Given the description of an element on the screen output the (x, y) to click on. 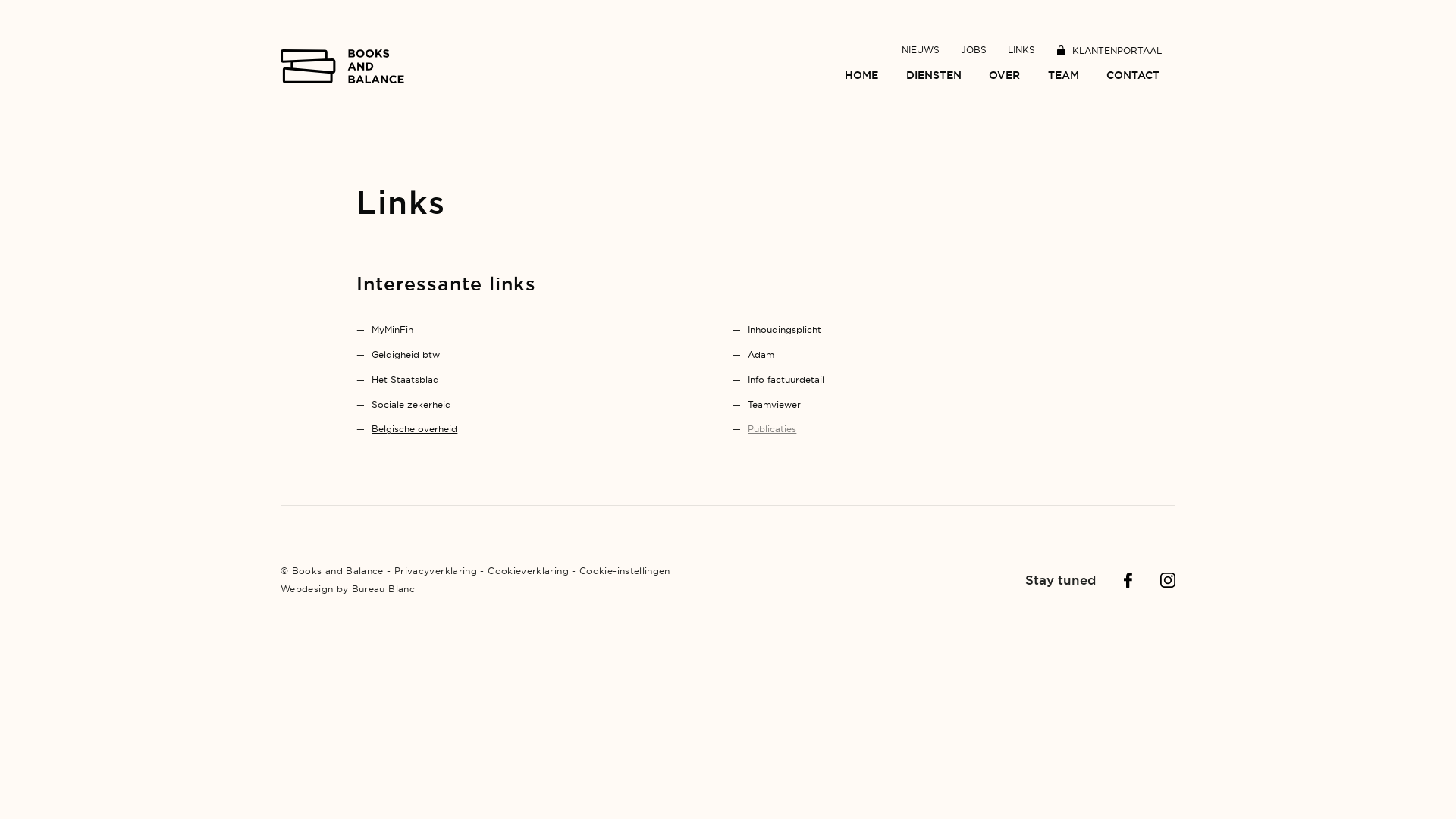
NIEUWS Element type: text (920, 49)
Sociale zekerheid Element type: text (411, 404)
TEAM Element type: text (1063, 75)
Privacyverklaring Element type: text (435, 570)
MyMinFin Element type: text (392, 329)
Belgische overheid Element type: text (414, 428)
Cookie-instellingen Element type: text (624, 570)
Het Staatsblad Element type: text (405, 379)
DIENSTEN Element type: text (933, 75)
HOME Element type: text (861, 75)
Publicaties Element type: text (771, 428)
LINKS Element type: text (1021, 49)
OVER Element type: text (1004, 75)
Cookieverklaring Element type: text (527, 570)
Inhoudingsplicht Element type: text (784, 329)
Adam Element type: text (760, 354)
Info factuurdetail Element type: text (785, 379)
JOBS Element type: text (973, 49)
CONTACT Element type: text (1132, 75)
Geldigheid btw Element type: text (405, 354)
KLANTENPORTAAL Element type: text (1109, 50)
Bureau Blanc Element type: text (382, 588)
Teamviewer Element type: text (773, 404)
